Given the description of an element on the screen output the (x, y) to click on. 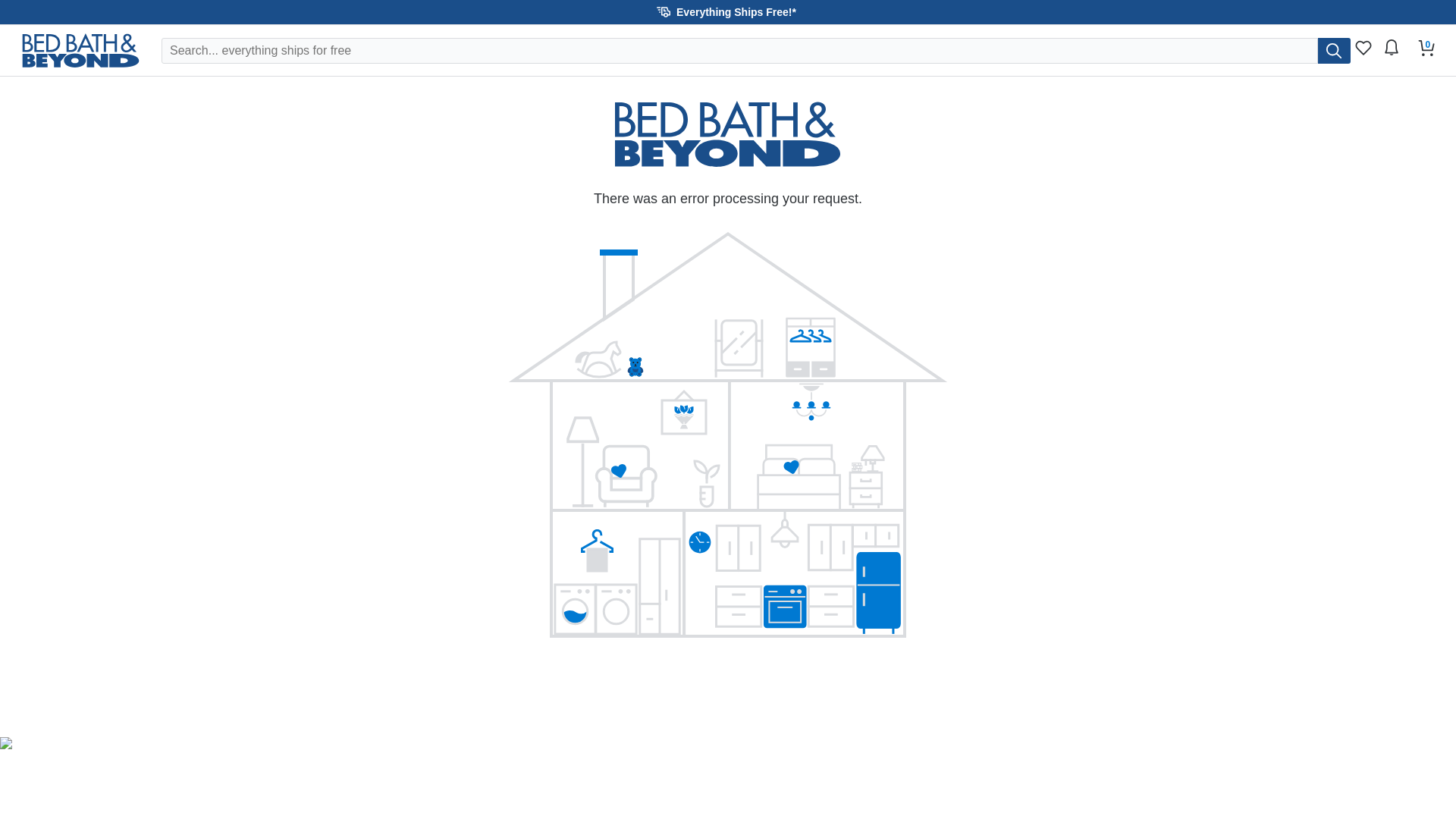
Cart Empty (1426, 49)
Heart (1426, 47)
Heart (1363, 51)
Bell (1363, 47)
Bell (1391, 52)
